Given the description of an element on the screen output the (x, y) to click on. 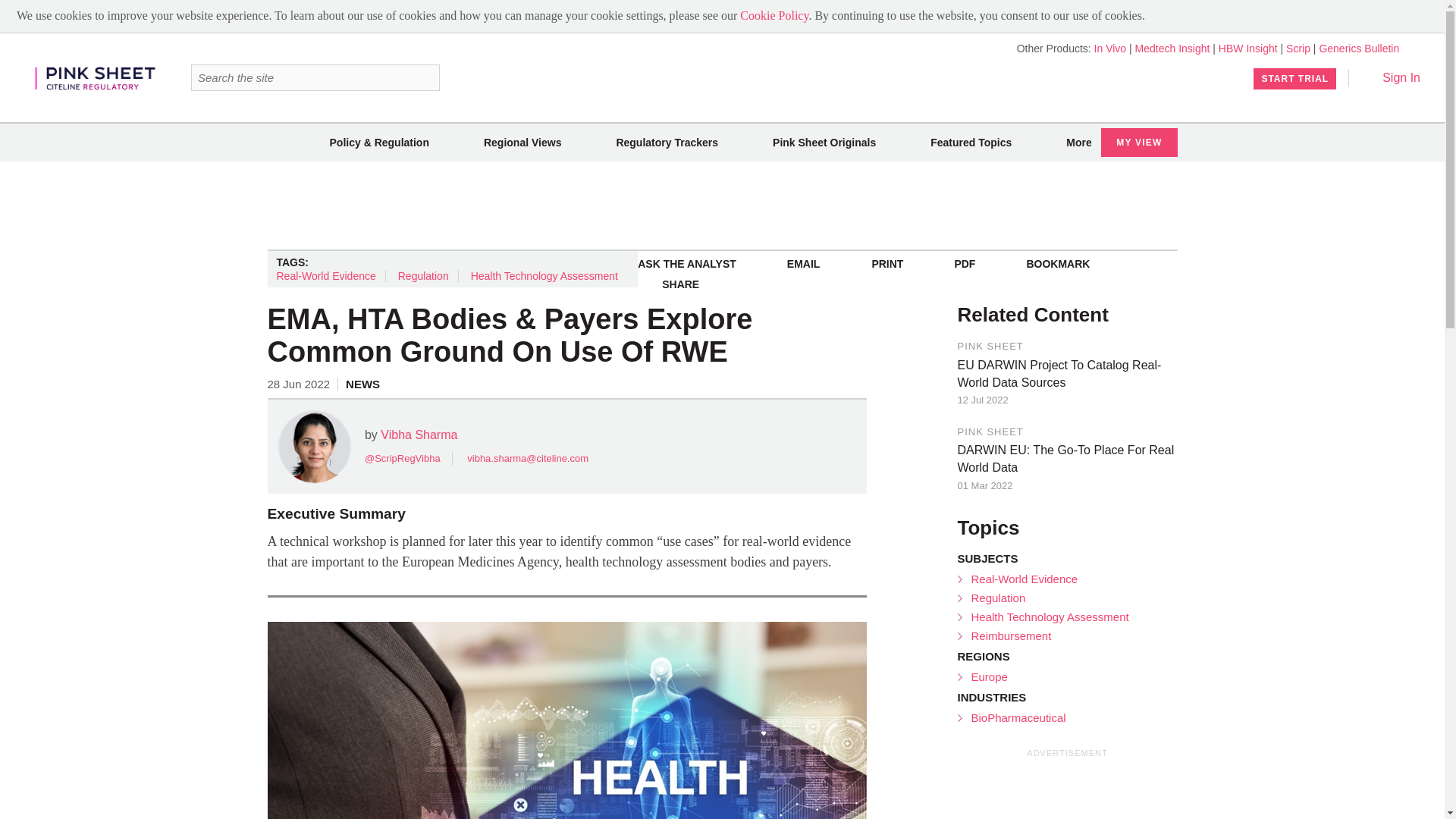
HBW Insight (1248, 48)
3rd party ad content (721, 205)
Medtech Insight (1172, 48)
Sign In (1391, 77)
Cookie Policy (773, 15)
Generics Bulletin (1359, 48)
3rd party ad content (1070, 789)
Scrip (1297, 48)
In Vivo (1110, 48)
START TRIAL (1294, 78)
